Given the description of an element on the screen output the (x, y) to click on. 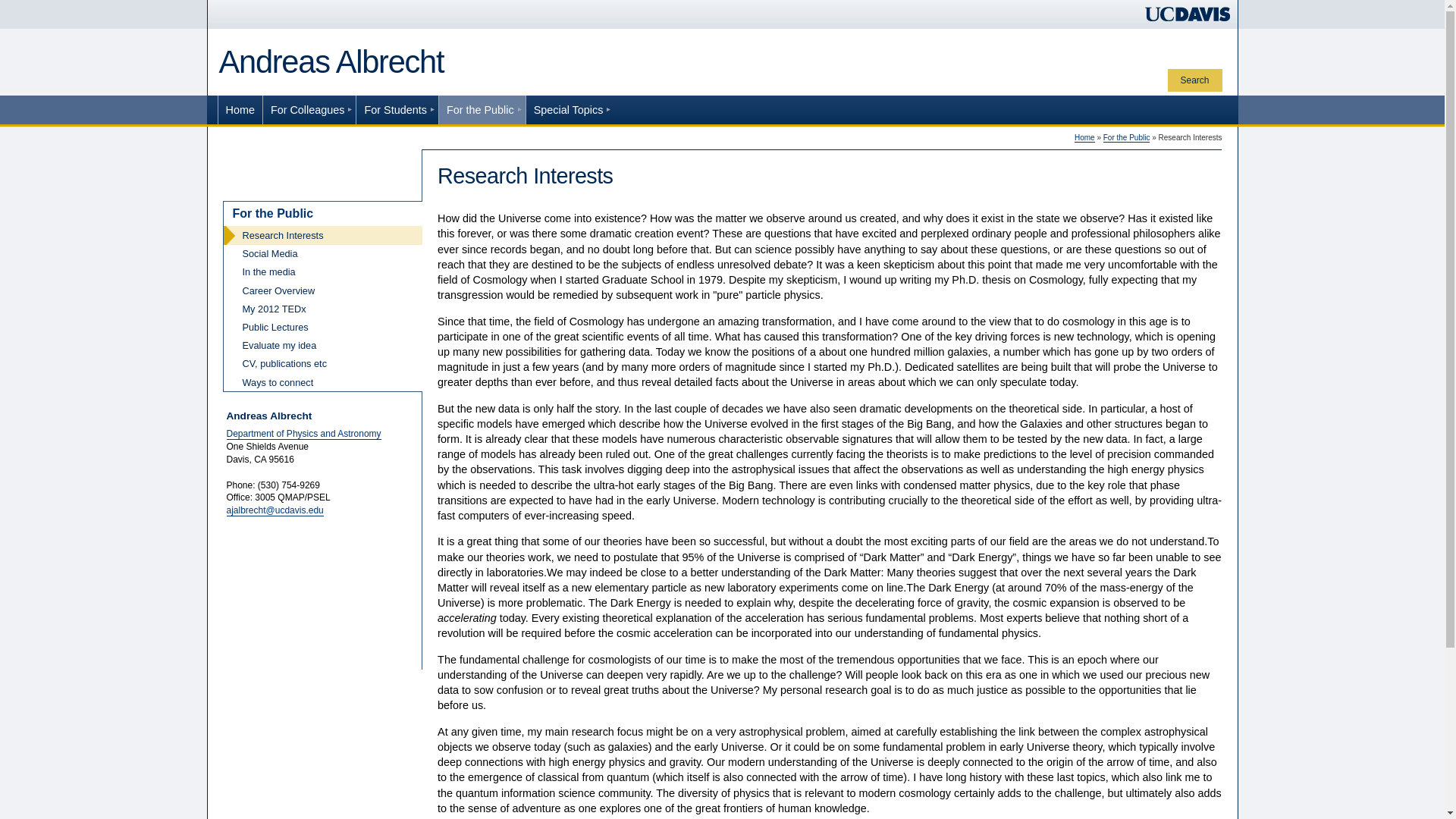
Press enter for full search results page. (1195, 79)
Search (1195, 79)
Home (240, 109)
Andreas Albrecht (331, 61)
Search (1195, 79)
For Students (397, 109)
For Colleagues (309, 109)
Search (1195, 79)
